Given the description of an element on the screen output the (x, y) to click on. 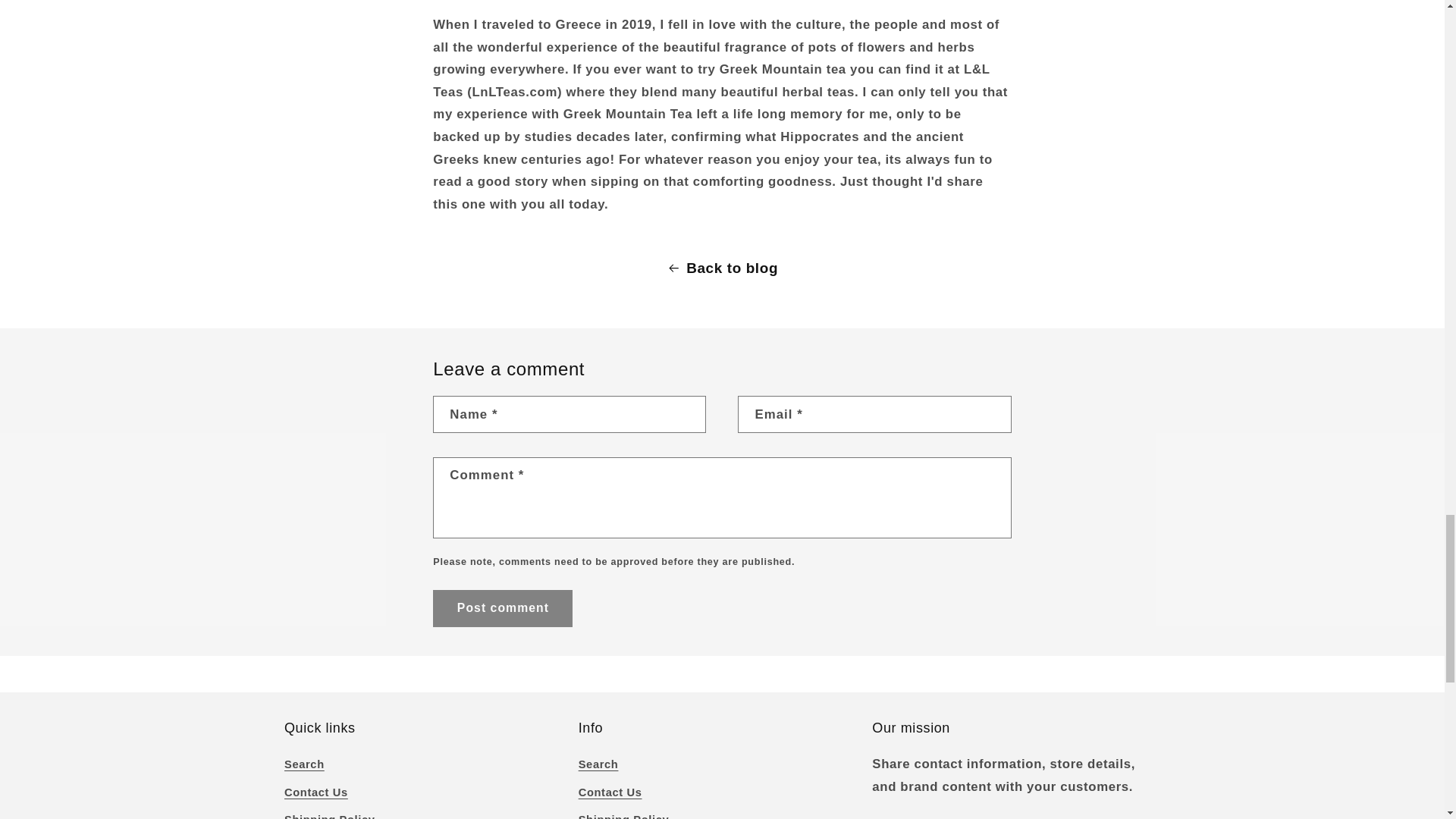
Post comment (502, 608)
Search (303, 766)
Contact Us (315, 792)
Shipping Policy (329, 812)
Post comment (502, 608)
